Given the description of an element on the screen output the (x, y) to click on. 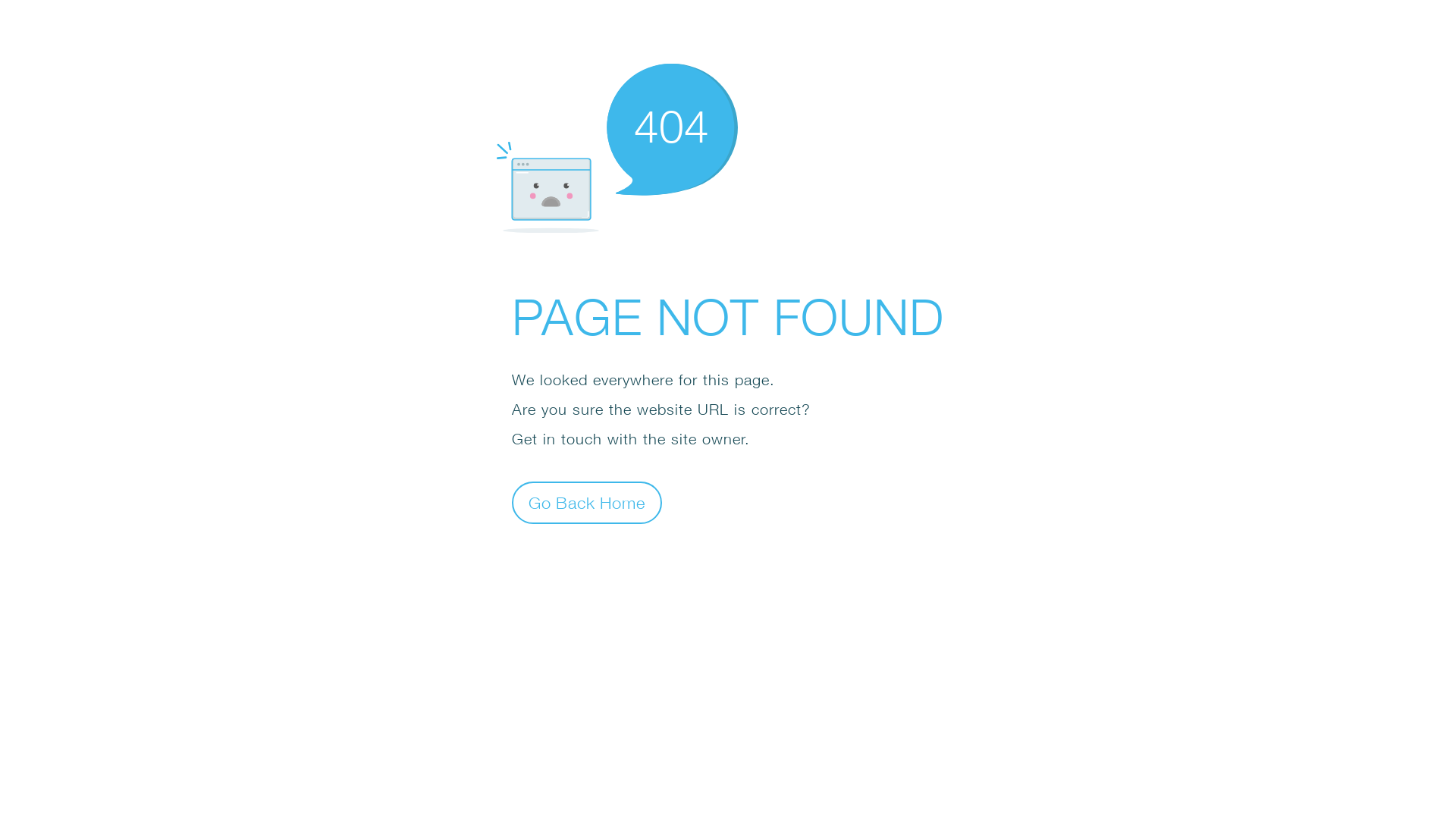
Go Back Home Element type: text (586, 502)
